Given the description of an element on the screen output the (x, y) to click on. 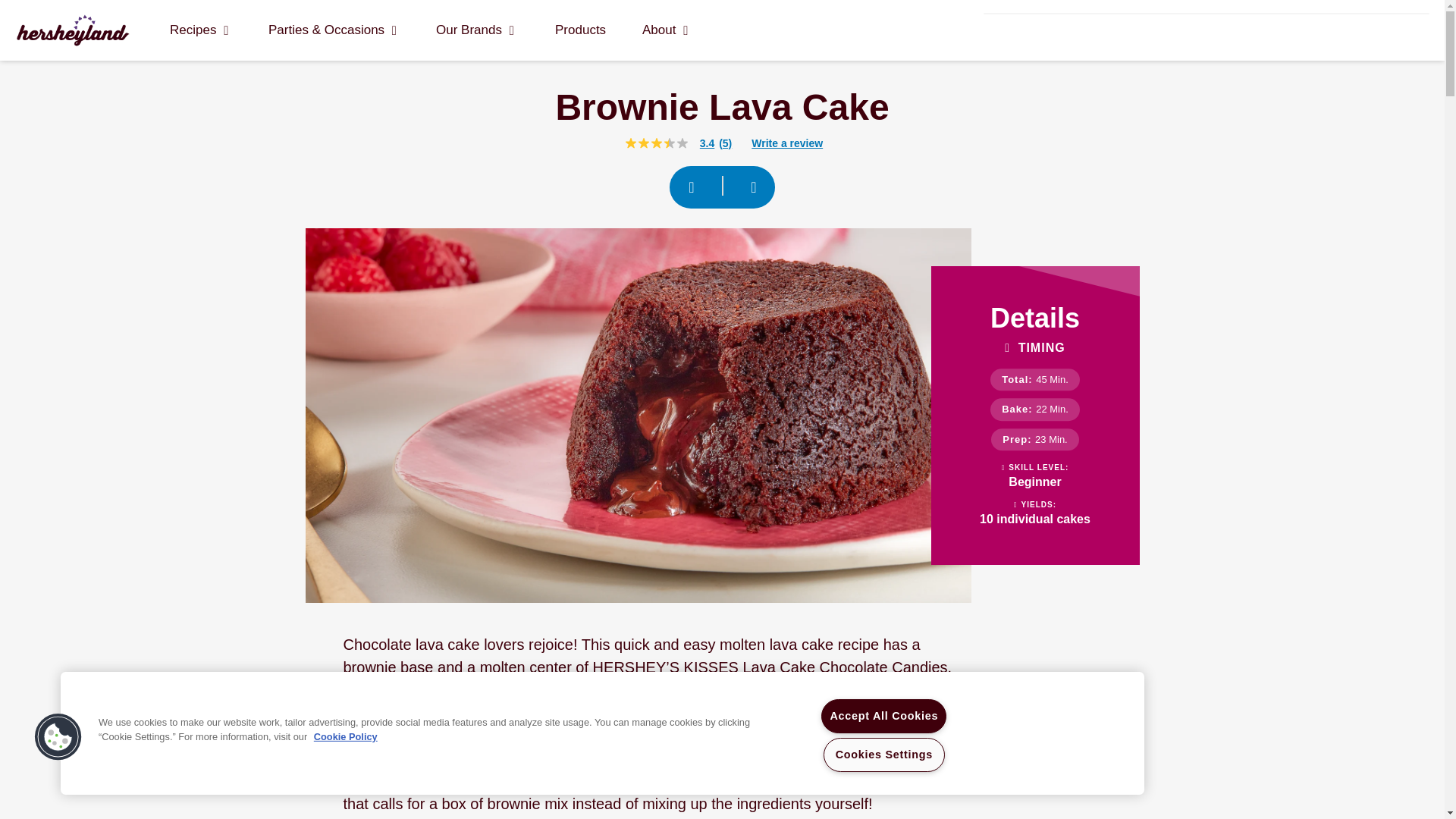
Products (579, 29)
Our Brands (474, 29)
About (664, 29)
Cookies Button (57, 737)
Recipes (199, 29)
